Given the description of an element on the screen output the (x, y) to click on. 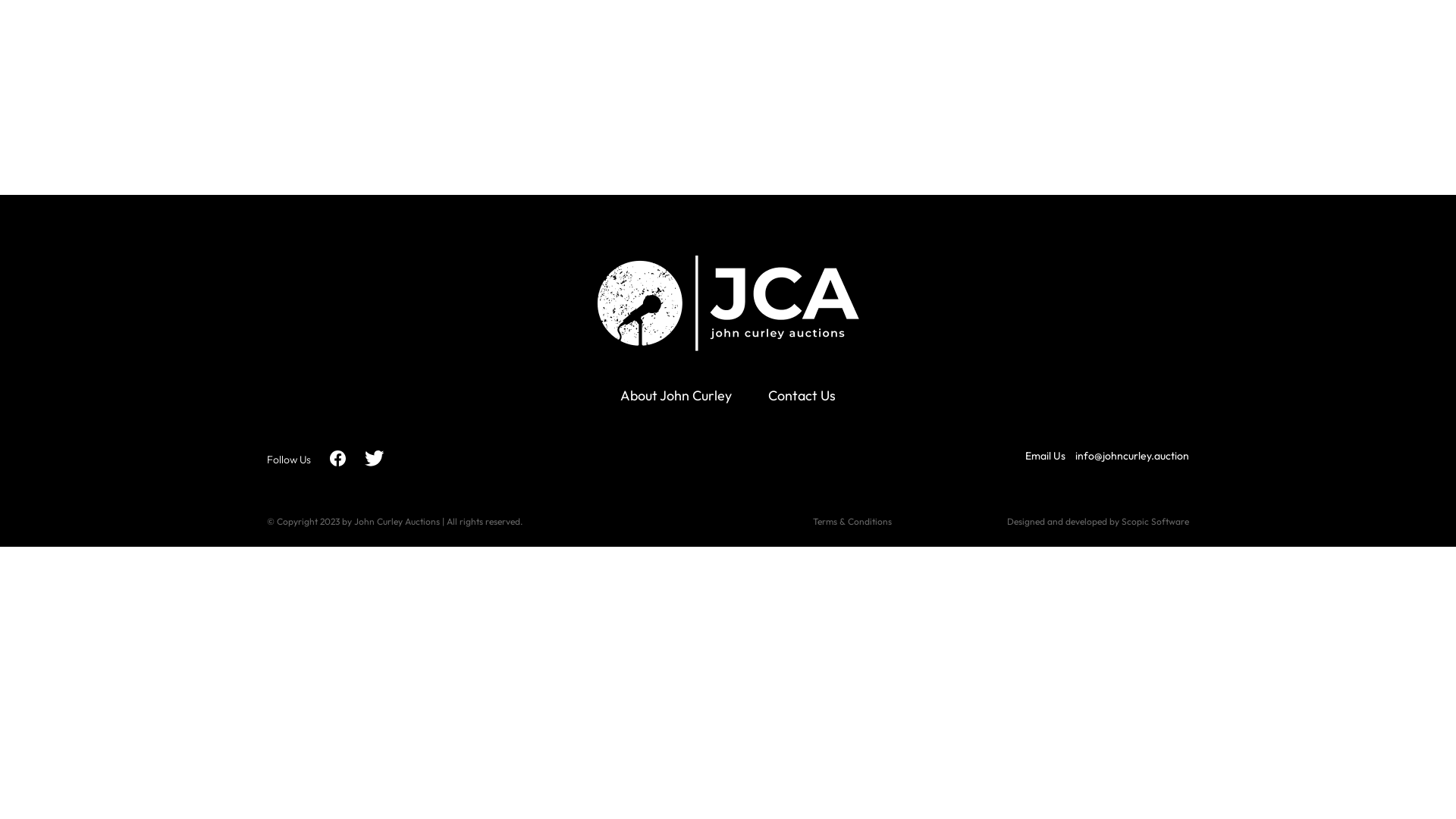
Home Element type: text (1109, 54)
Terms & Conditions Element type: text (851, 521)
Contact Us Element type: text (801, 395)
Scopic Software Element type: text (1155, 521)
Contact Us Element type: text (1179, 54)
info@johncurley.auction Element type: text (1132, 455)
About John Curley Element type: text (675, 395)
